Given the description of an element on the screen output the (x, y) to click on. 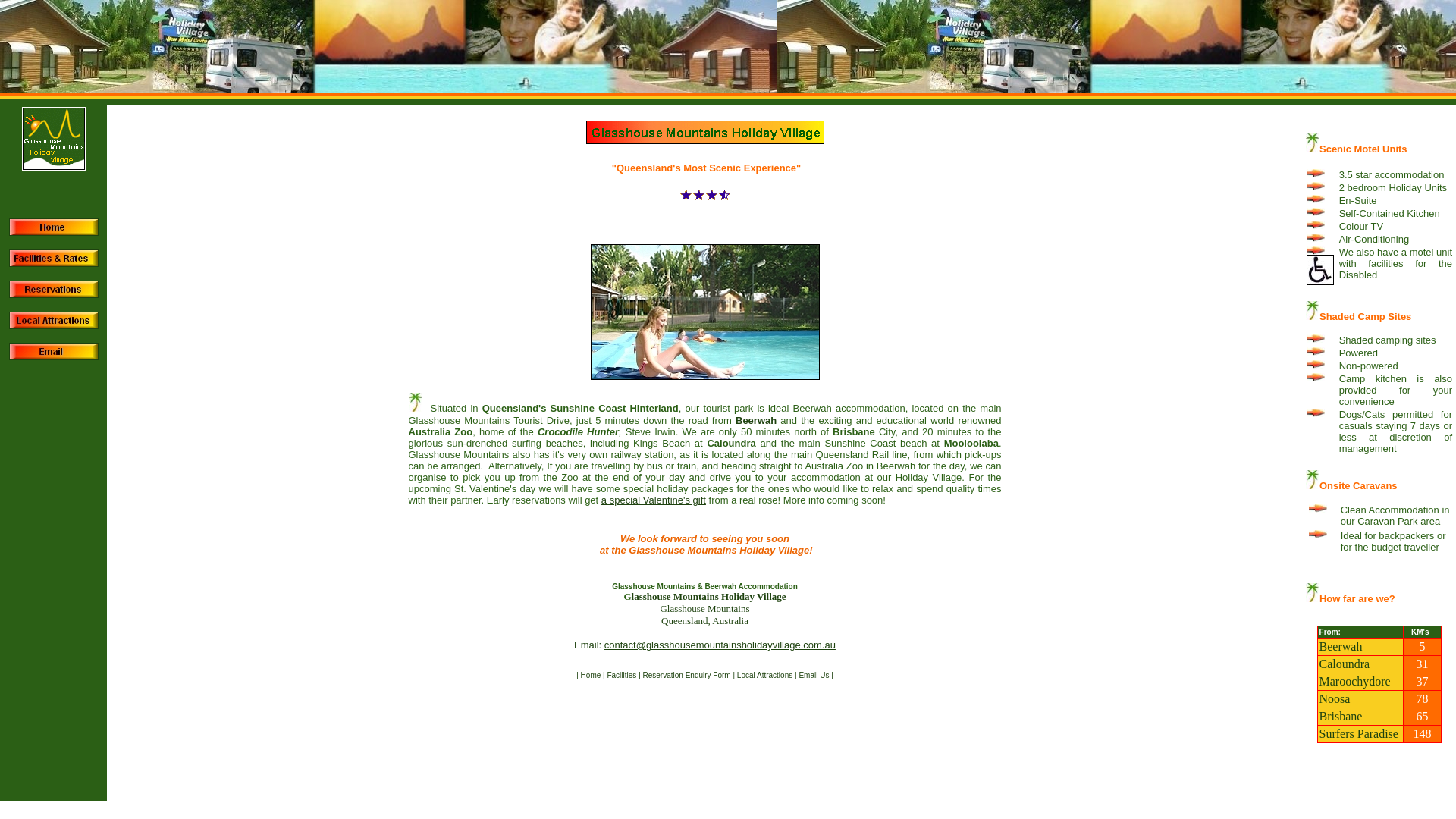
a special Valentine's gift Element type: text (653, 499)
Email Us Element type: text (813, 675)
contact@glasshousemountainsholidayvillage.com.au Element type: text (719, 644)
Glasshouse Mountains Holiday Village Accommodation Element type: hover (53, 231)
Glasshouse Mountains & Beerwah Accommodation Element type: text (704, 586)
Home Element type: text (590, 675)
Reservation Enquiry Form Element type: text (687, 675)
Local Attractions Element type: text (765, 675)
Facilities Element type: text (621, 675)
Beerwah Element type: text (755, 420)
